Given the description of an element on the screen output the (x, y) to click on. 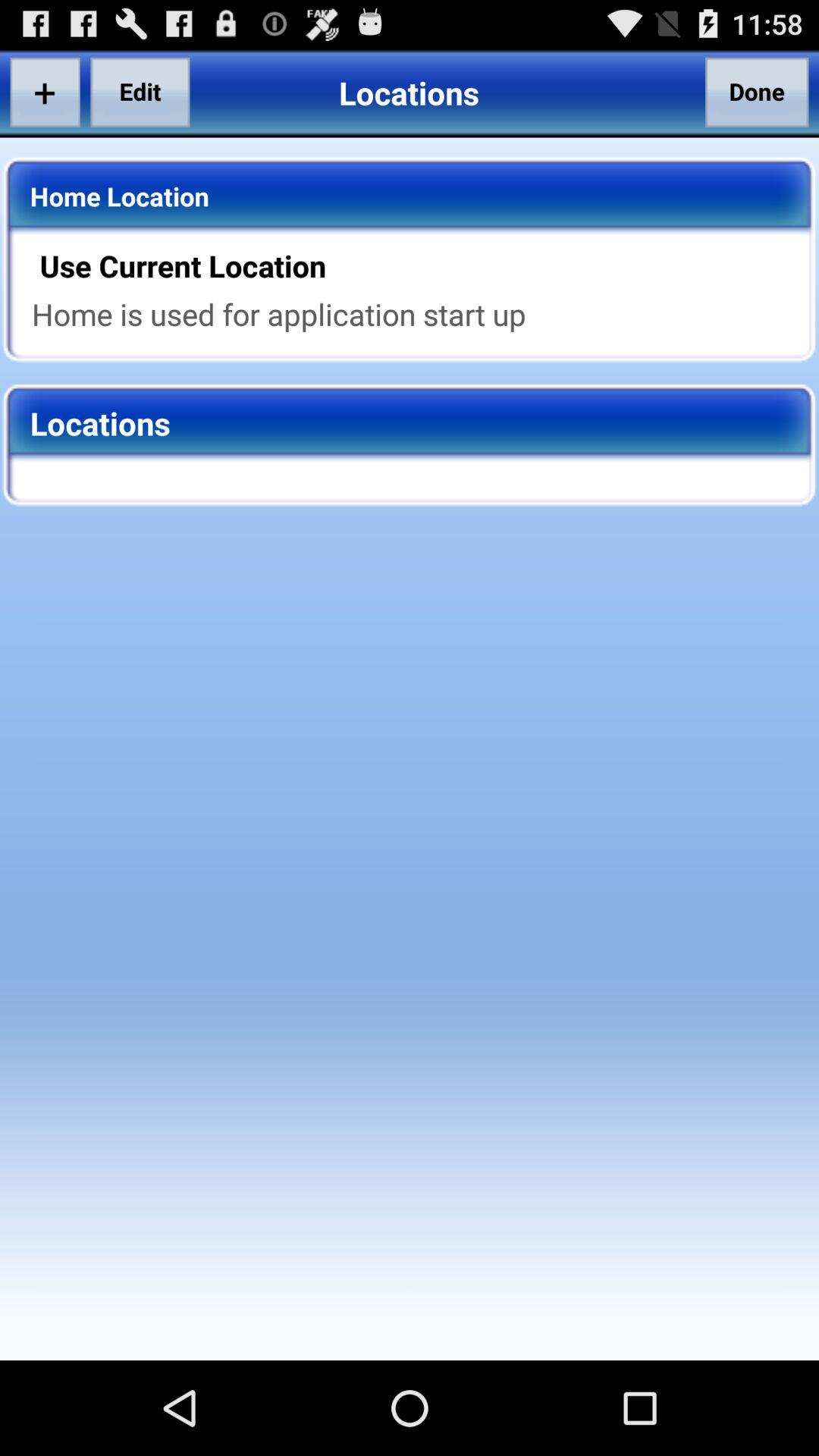
open item below home location item (419, 265)
